Given the description of an element on the screen output the (x, y) to click on. 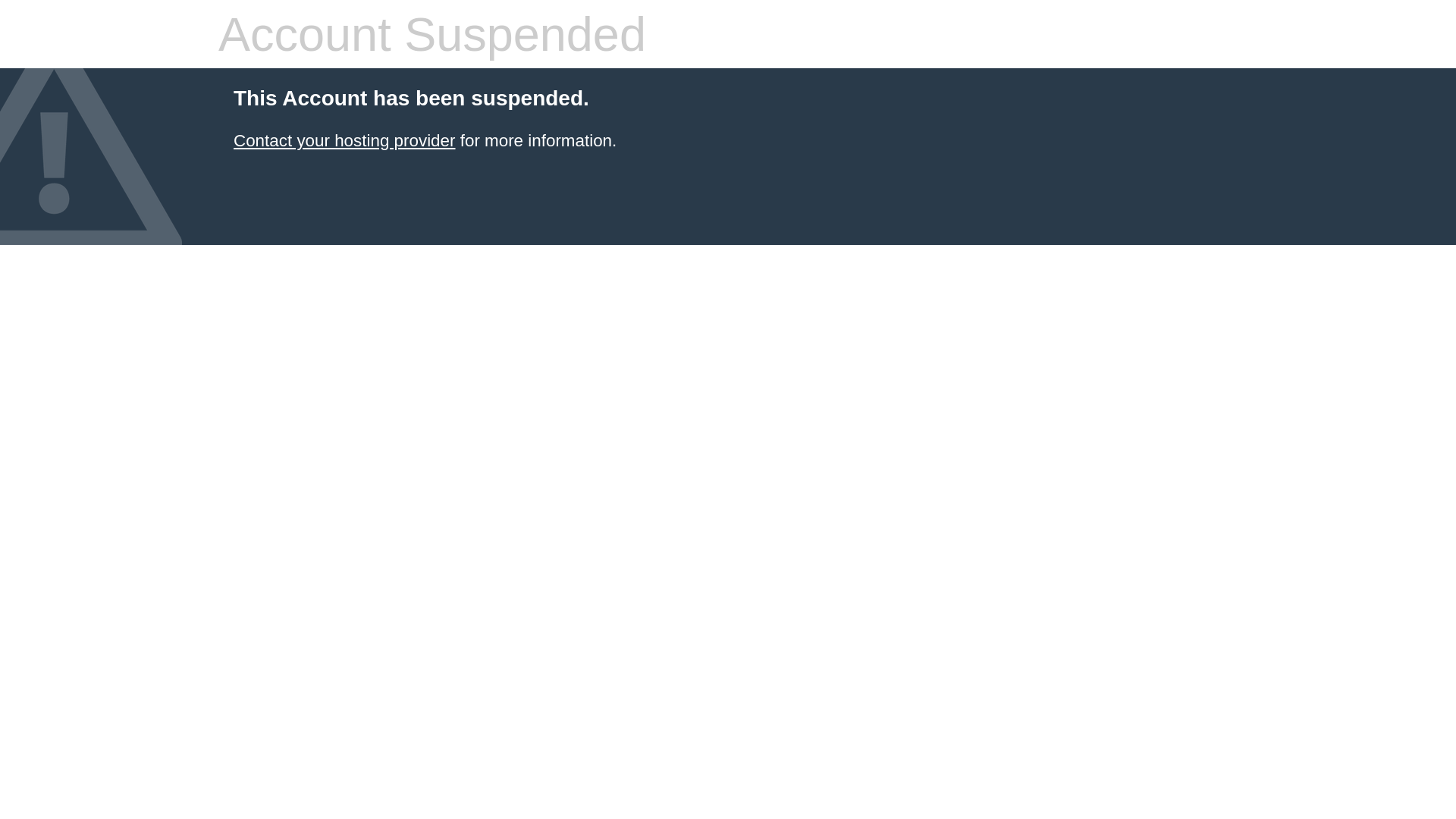
Contact your hosting provider Element type: text (344, 140)
